Given the description of an element on the screen output the (x, y) to click on. 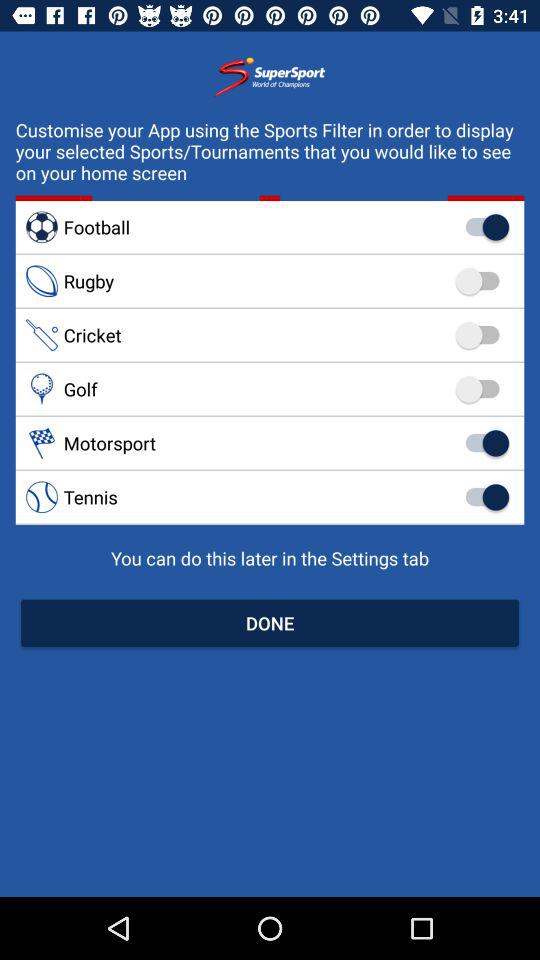
press done (269, 622)
